Given the description of an element on the screen output the (x, y) to click on. 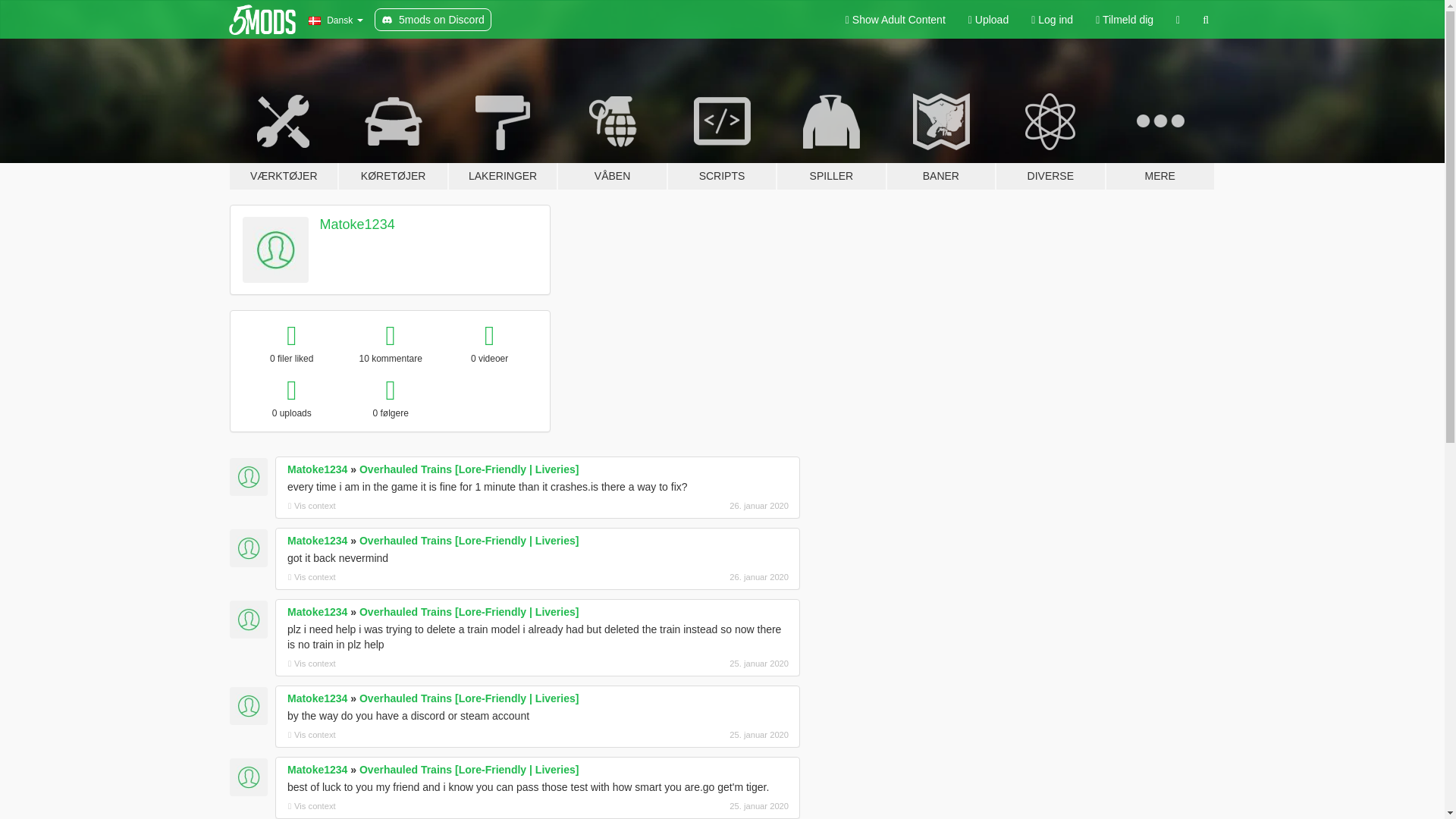
  Dansk (335, 19)
25. januar 2020, 13.37 (708, 735)
Light mode (895, 19)
25. januar 2020, 13.33 (708, 806)
Tilmeld dig (1124, 19)
5mods on Discord (433, 19)
Log ind (1052, 19)
Upload (988, 19)
26. januar 2020, 06.37 (708, 576)
Show Adult Content (895, 19)
